Given the description of an element on the screen output the (x, y) to click on. 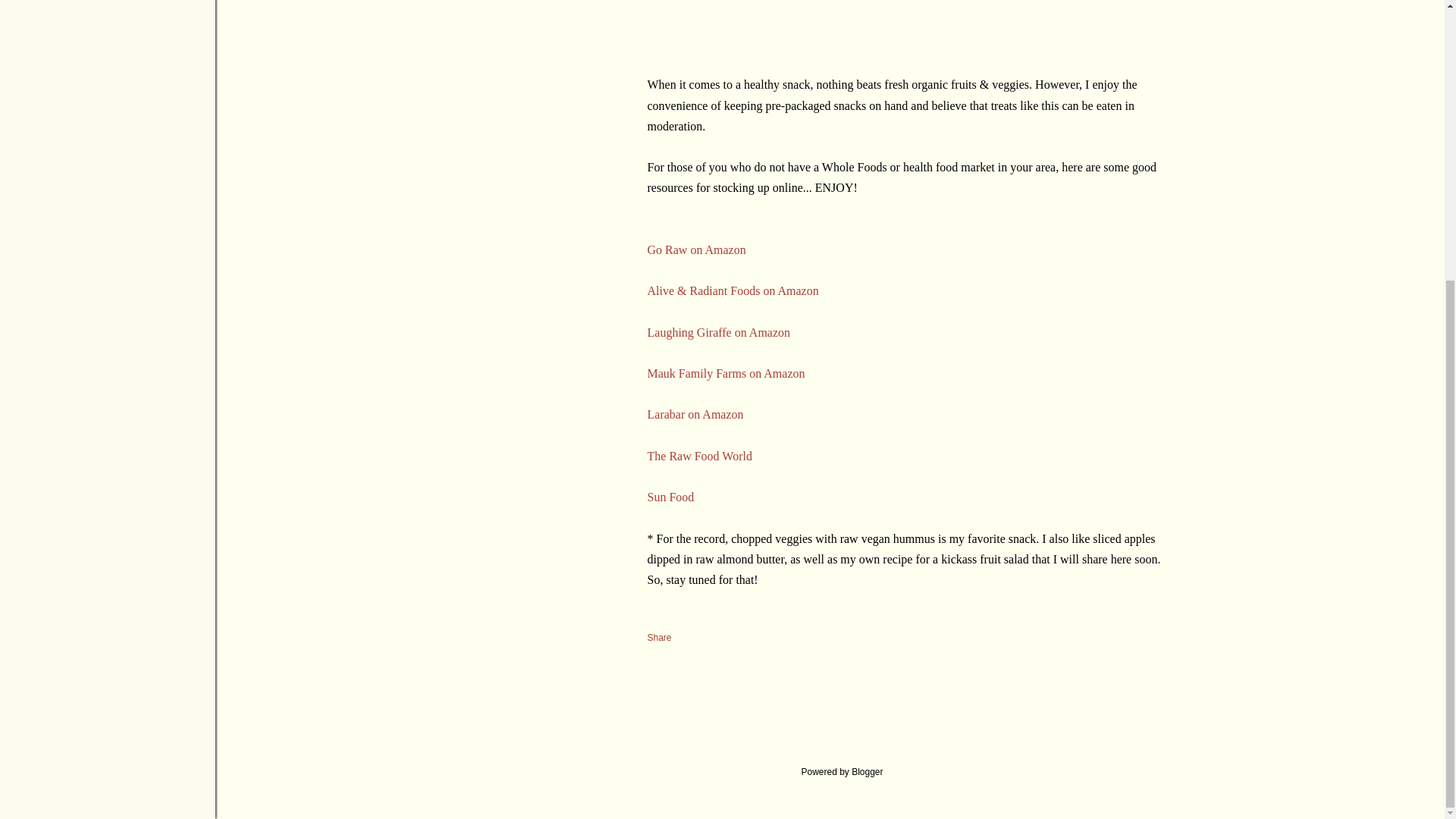
Sun Food (670, 496)
Mauk Family Farms on Amazon (726, 373)
Go Raw on Amazon (696, 249)
Larabar on Amazon (695, 413)
Share (659, 637)
The Raw Food World (699, 455)
Laughing Giraffe on Amazon (718, 332)
